Given the description of an element on the screen output the (x, y) to click on. 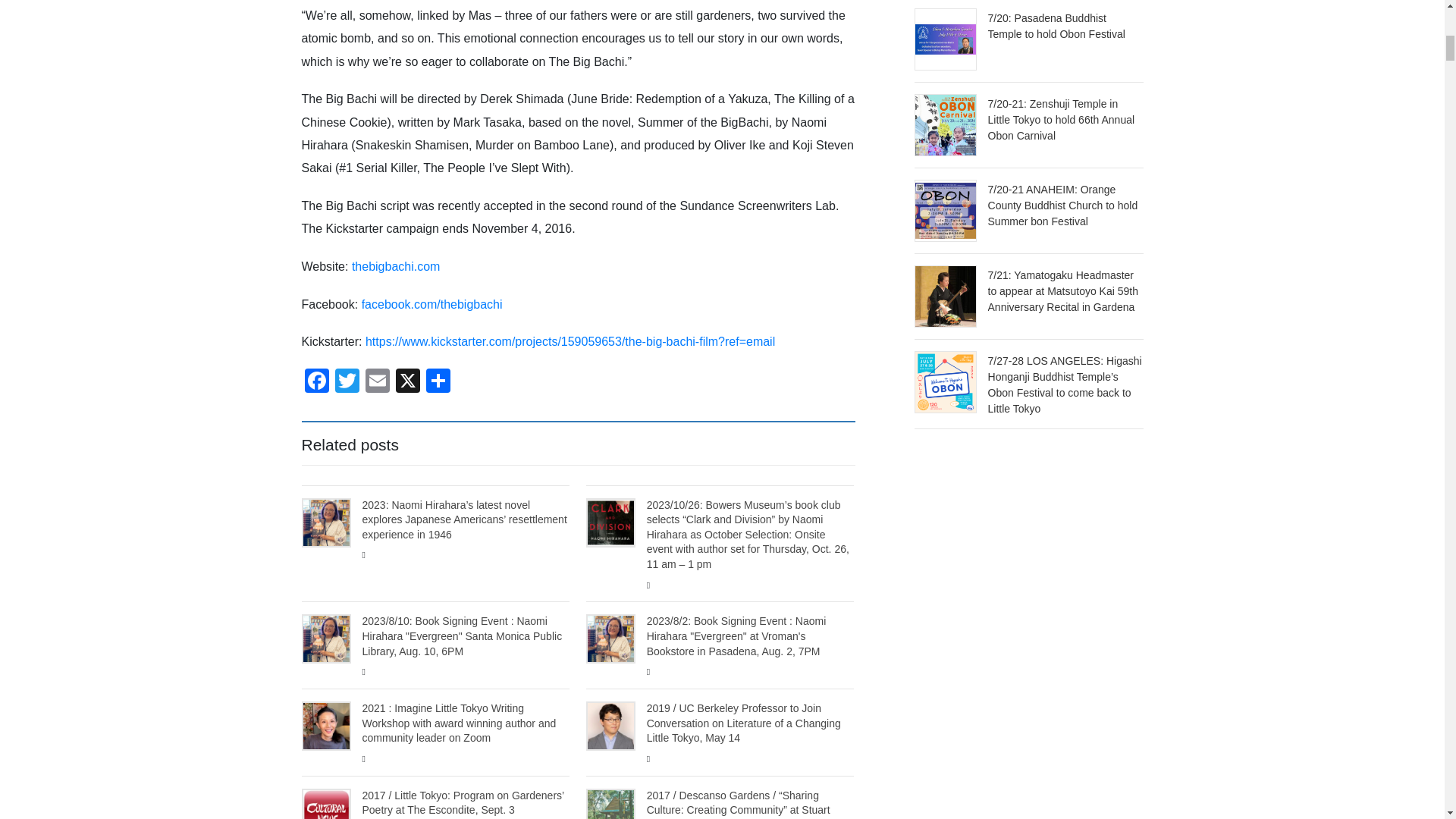
Facebook (316, 382)
thebigbachi.com (396, 266)
X (408, 382)
X (408, 382)
Email (377, 382)
Facebook (316, 382)
Twitter (346, 382)
Email (377, 382)
Twitter (346, 382)
